Given the description of an element on the screen output the (x, y) to click on. 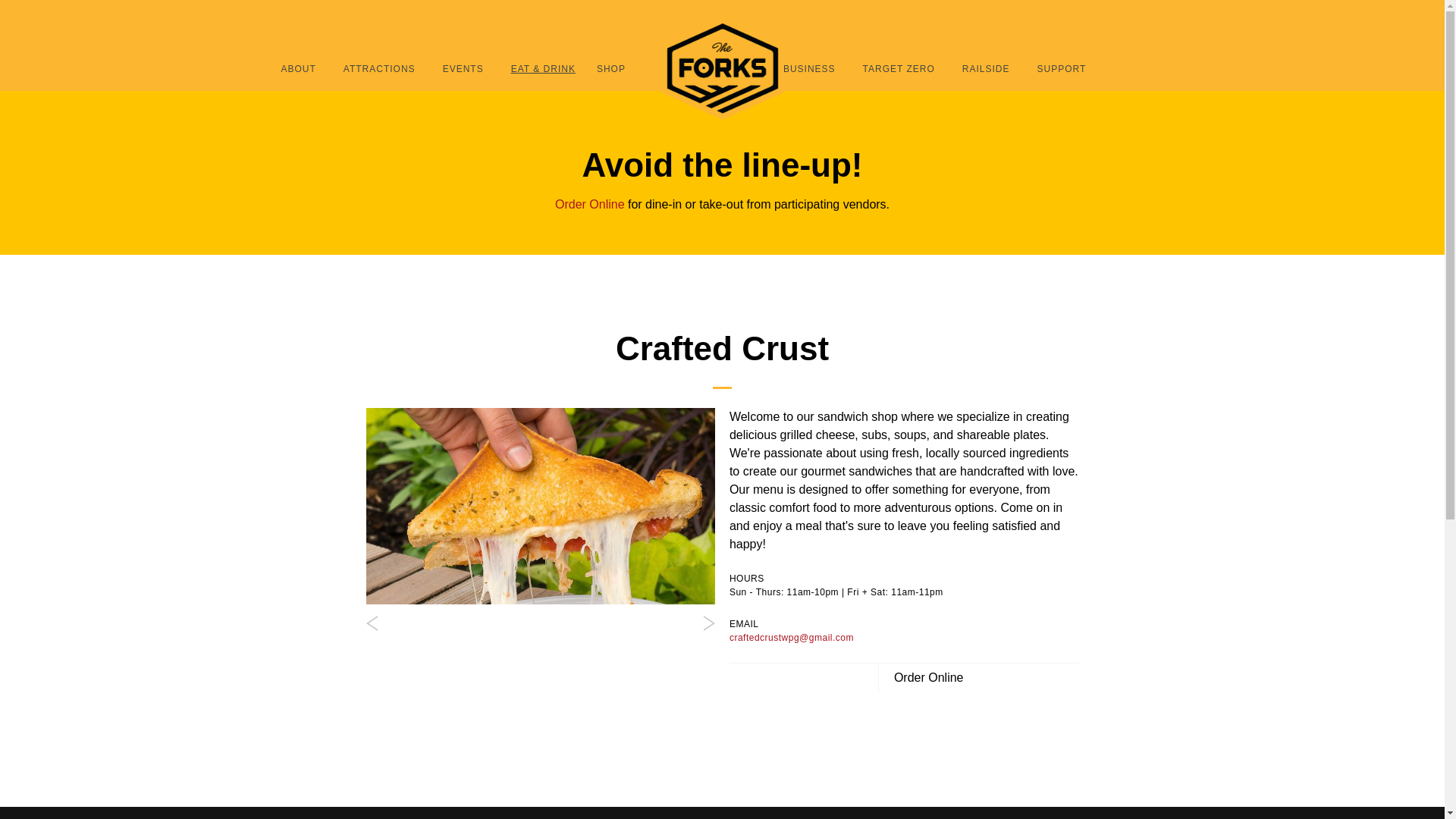
Blog (995, 23)
Instagram (1086, 23)
TARGET ZERO (898, 68)
ATTRACTIONS (379, 68)
SHOP (611, 68)
BUSINESS (809, 68)
EVENTS (463, 68)
search (1146, 23)
ABOUT (297, 68)
RAILSIDE (986, 68)
